Given the description of an element on the screen output the (x, y) to click on. 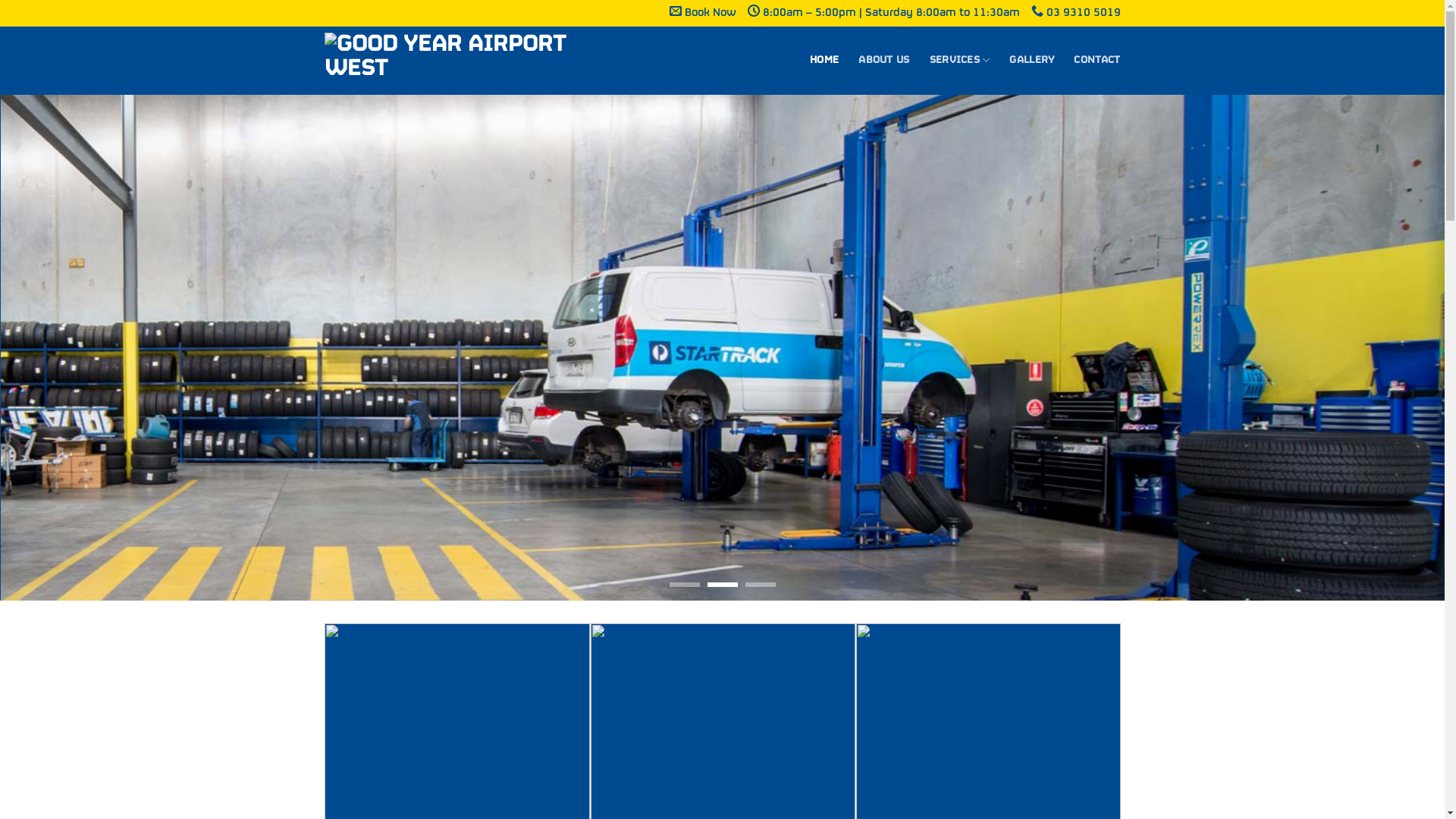
CONTACT Element type: text (1096, 59)
HOME Element type: text (823, 59)
Good Year Airport West Element type: hover (456, 60)
Skip to content Element type: text (0, 0)
GALLERY Element type: text (1031, 59)
SERVICES Element type: text (959, 59)
03 9310 5019 Element type: text (1075, 12)
ABOUT US Element type: text (883, 59)
Book Now Element type: text (701, 12)
